Given the description of an element on the screen output the (x, y) to click on. 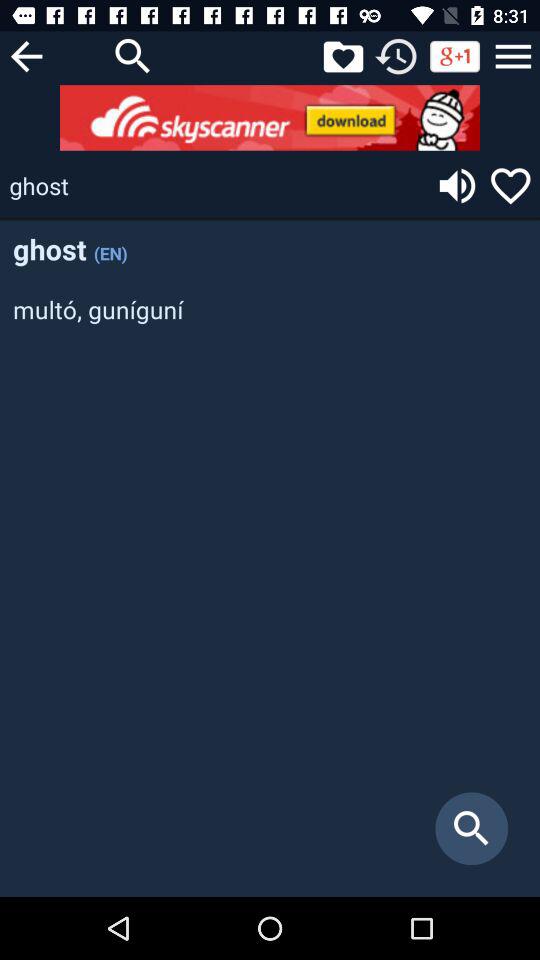
advertisement banner (270, 117)
